Given the description of an element on the screen output the (x, y) to click on. 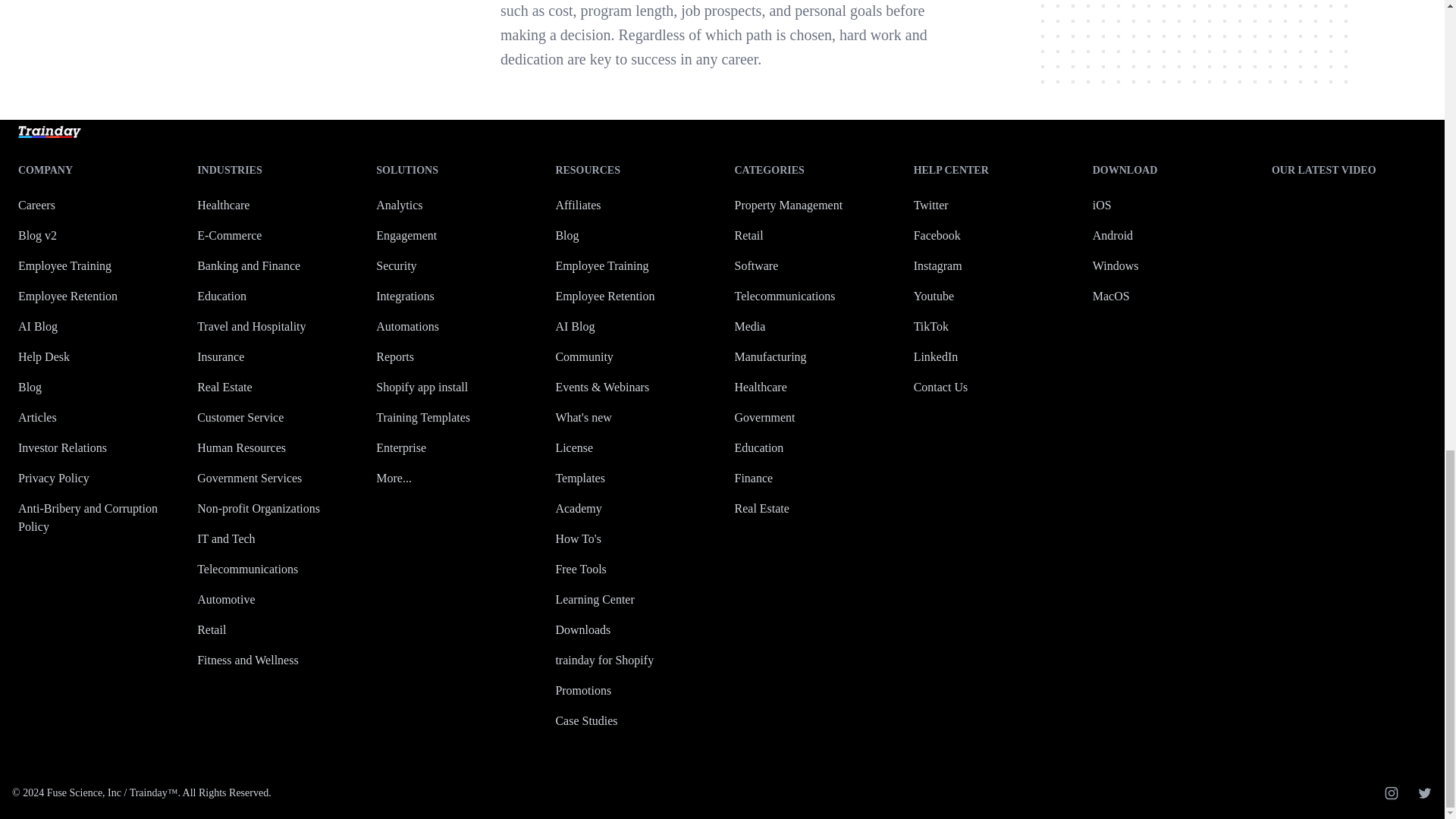
Careers (36, 205)
Customer Service (239, 417)
Help Desk (43, 356)
Government Services (248, 477)
Insurance (220, 356)
E-Commerce (229, 235)
Articles (36, 417)
Automotive (225, 599)
Real Estate (223, 386)
Travel and Hospitality (250, 326)
